Given the description of an element on the screen output the (x, y) to click on. 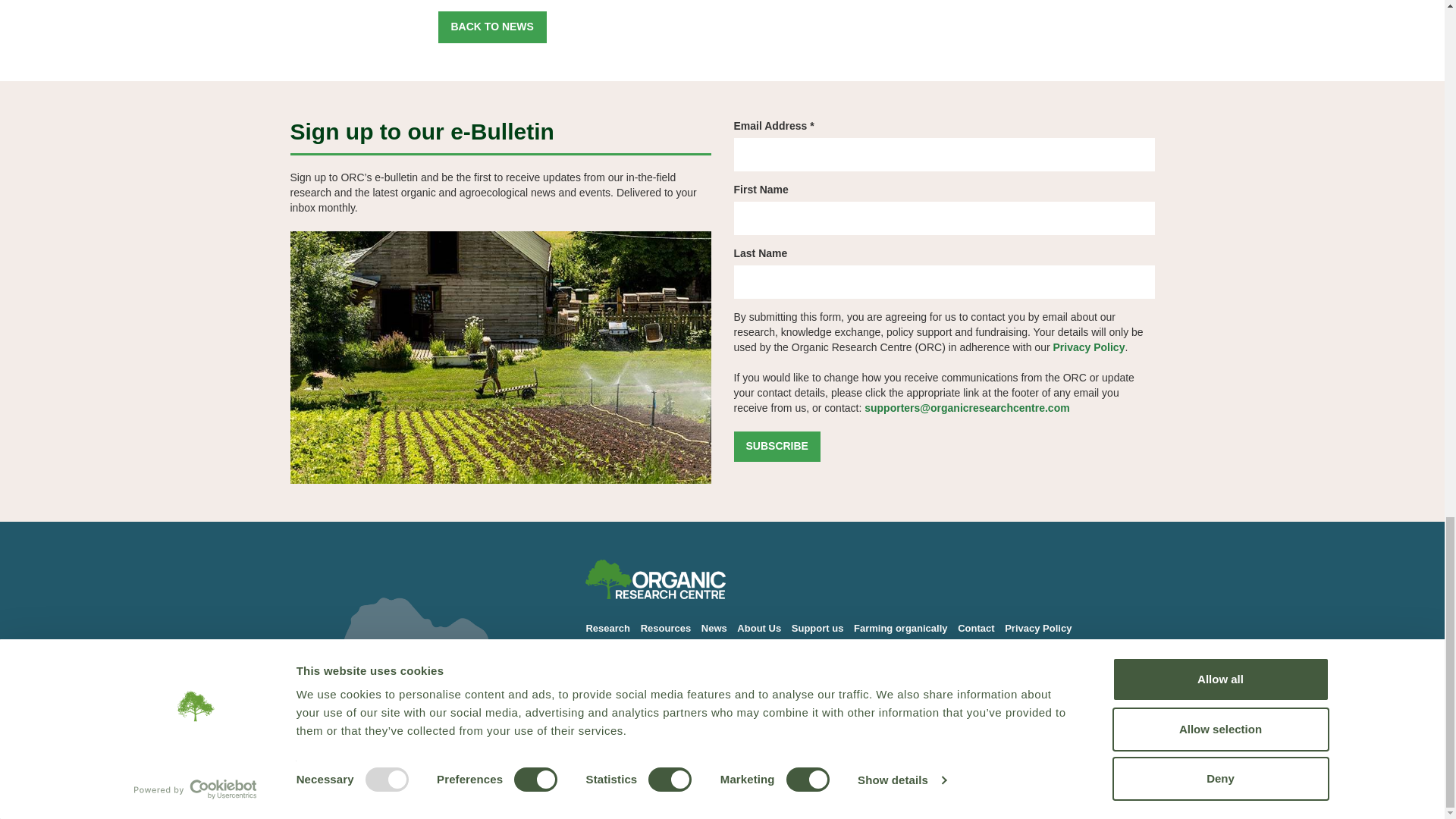
Subscribe (777, 446)
